Given the description of an element on the screen output the (x, y) to click on. 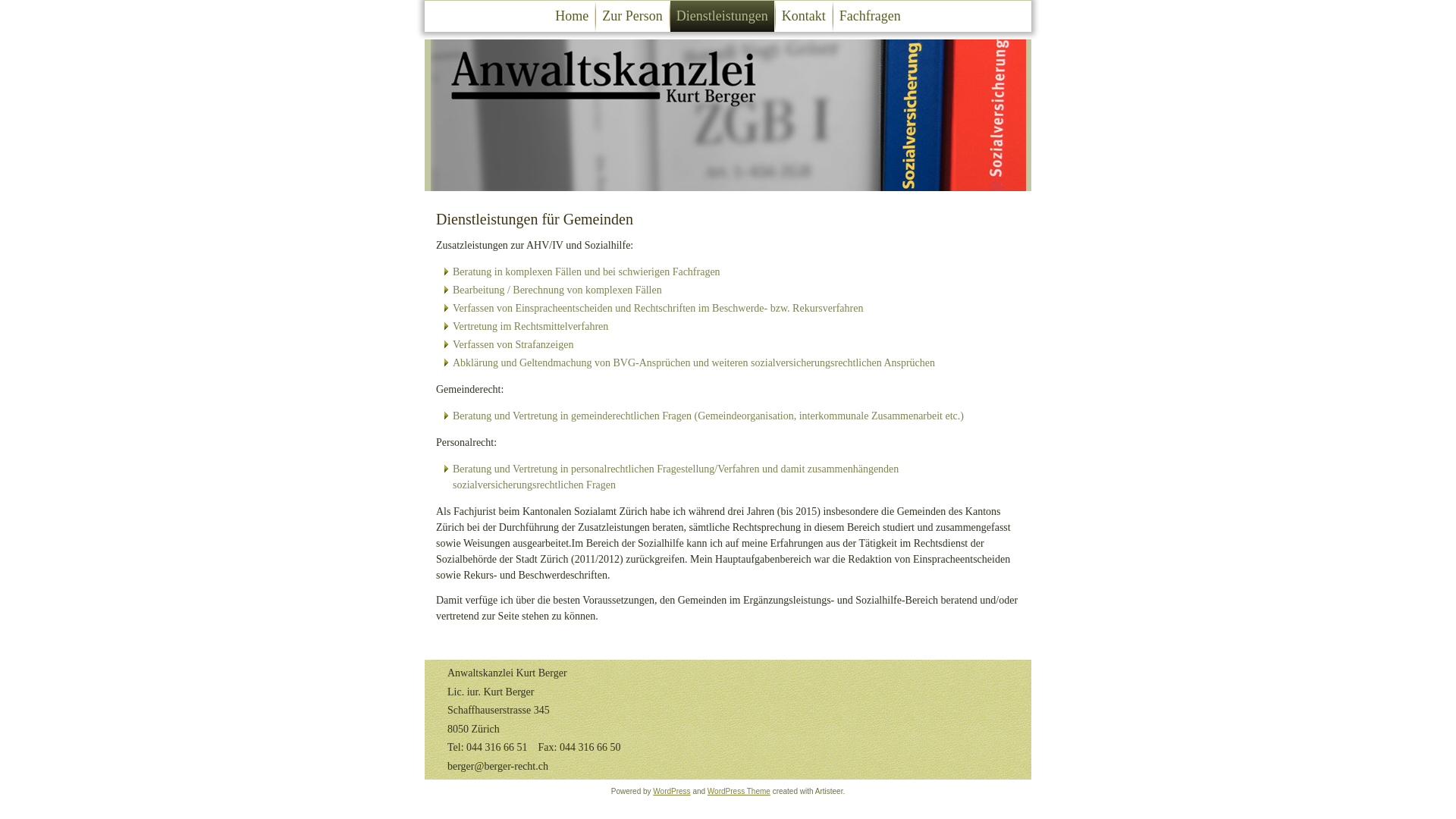
Home Element type: text (571, 15)
Fachfragen Element type: text (869, 15)
Kontakt Element type: text (803, 15)
WordPress Theme Element type: text (738, 791)
Zur Person Element type: text (632, 15)
WordPress Element type: text (671, 791)
Dienstleistungen Element type: text (722, 15)
